Given the description of an element on the screen output the (x, y) to click on. 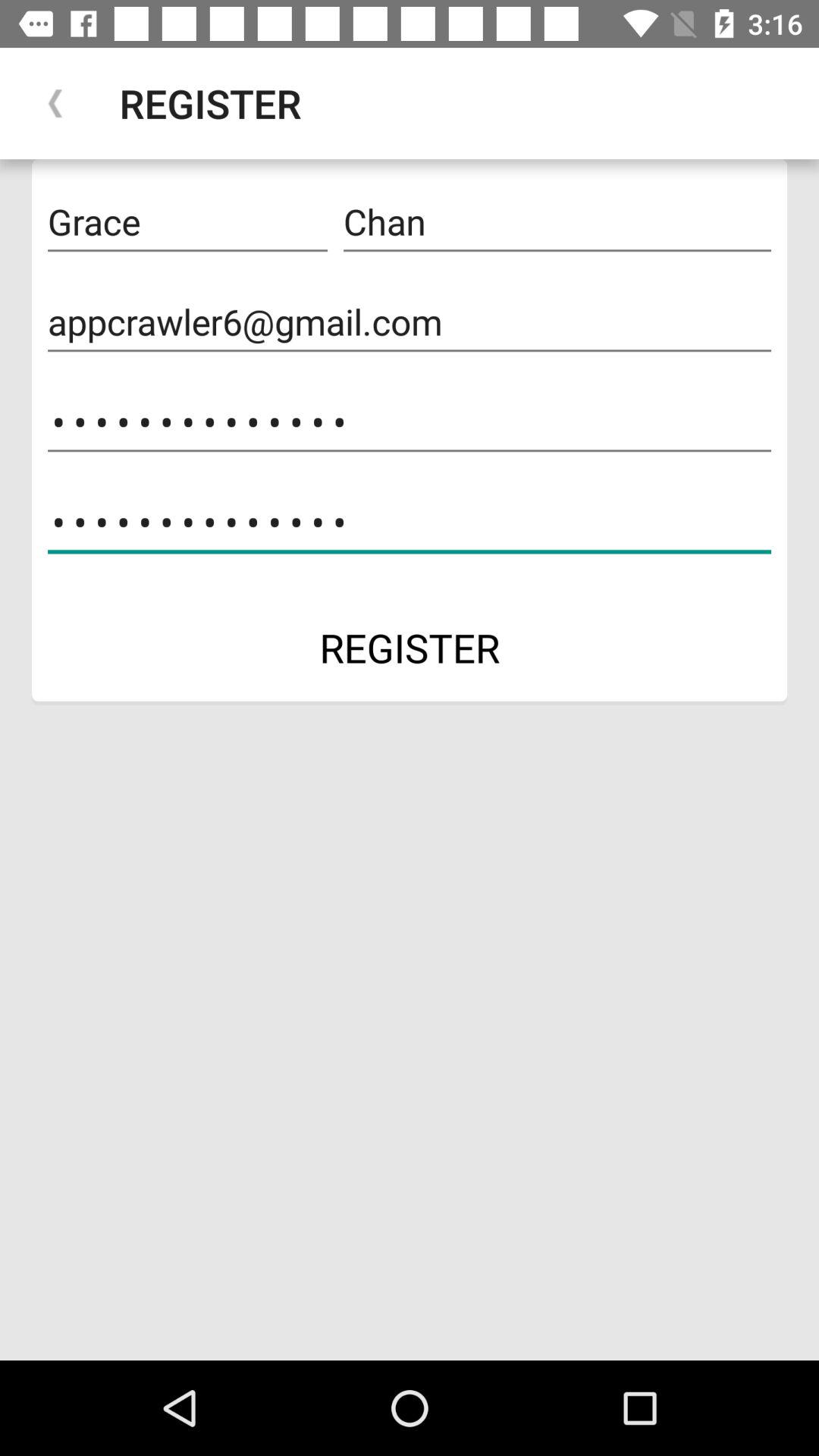
tap chan icon (557, 222)
